Given the description of an element on the screen output the (x, y) to click on. 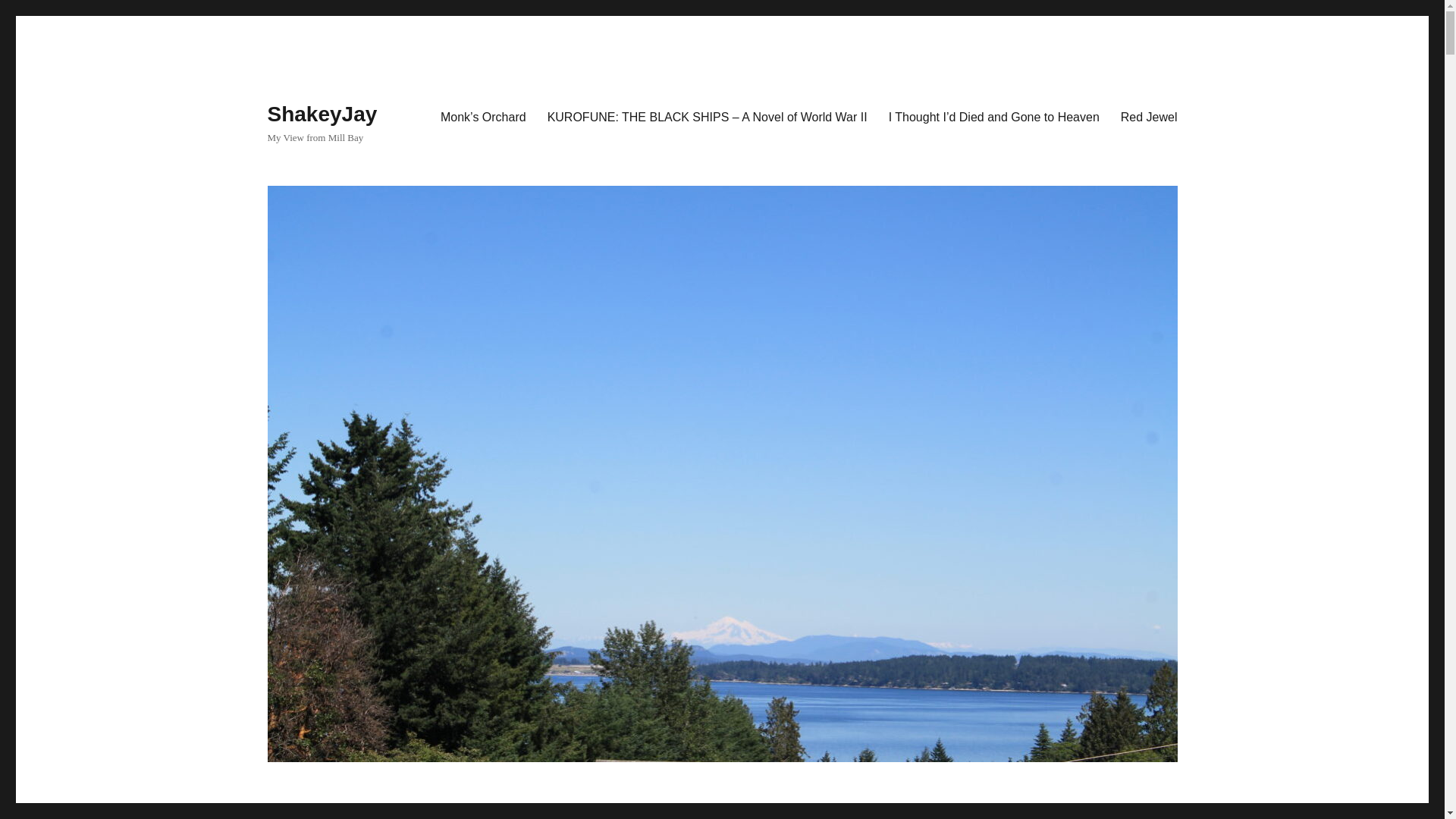
ShakeyJay (321, 114)
Red Jewel (1148, 116)
